Given the description of an element on the screen output the (x, y) to click on. 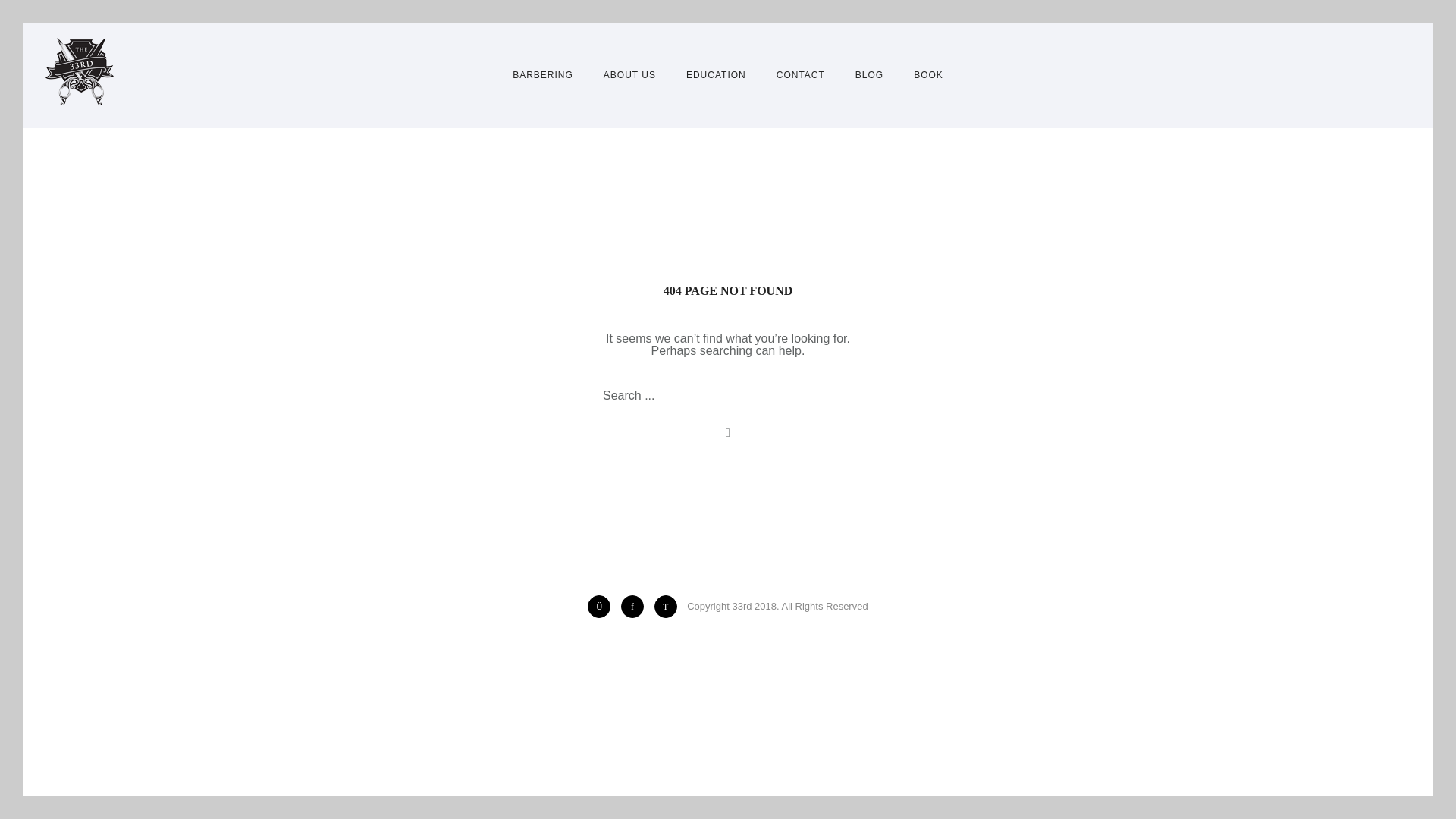
Education (716, 74)
Barbering (550, 74)
Blog (869, 74)
CONTACT (800, 74)
ABOUT US (629, 74)
BARBERING (550, 74)
EDUCATION (716, 74)
Contact (800, 74)
BOOK (920, 74)
BLOG (869, 74)
